Given the description of an element on the screen output the (x, y) to click on. 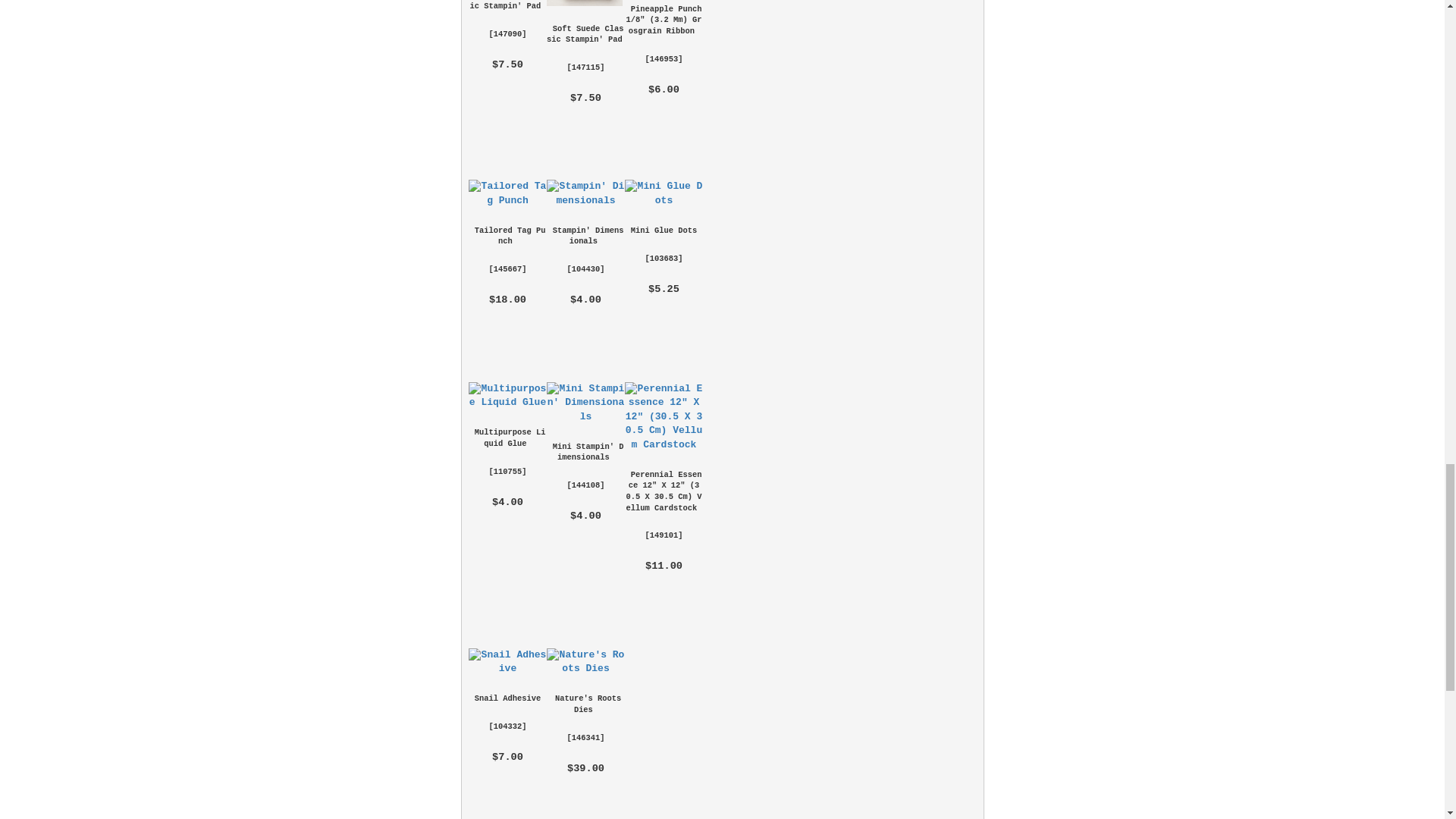
147115 (585, 67)
147090 (507, 33)
146953 (663, 58)
Old Olive Classic Stampin' Pad (508, 5)
Soft Suede Classic Stampin' Pad (585, 34)
